Given the description of an element on the screen output the (x, y) to click on. 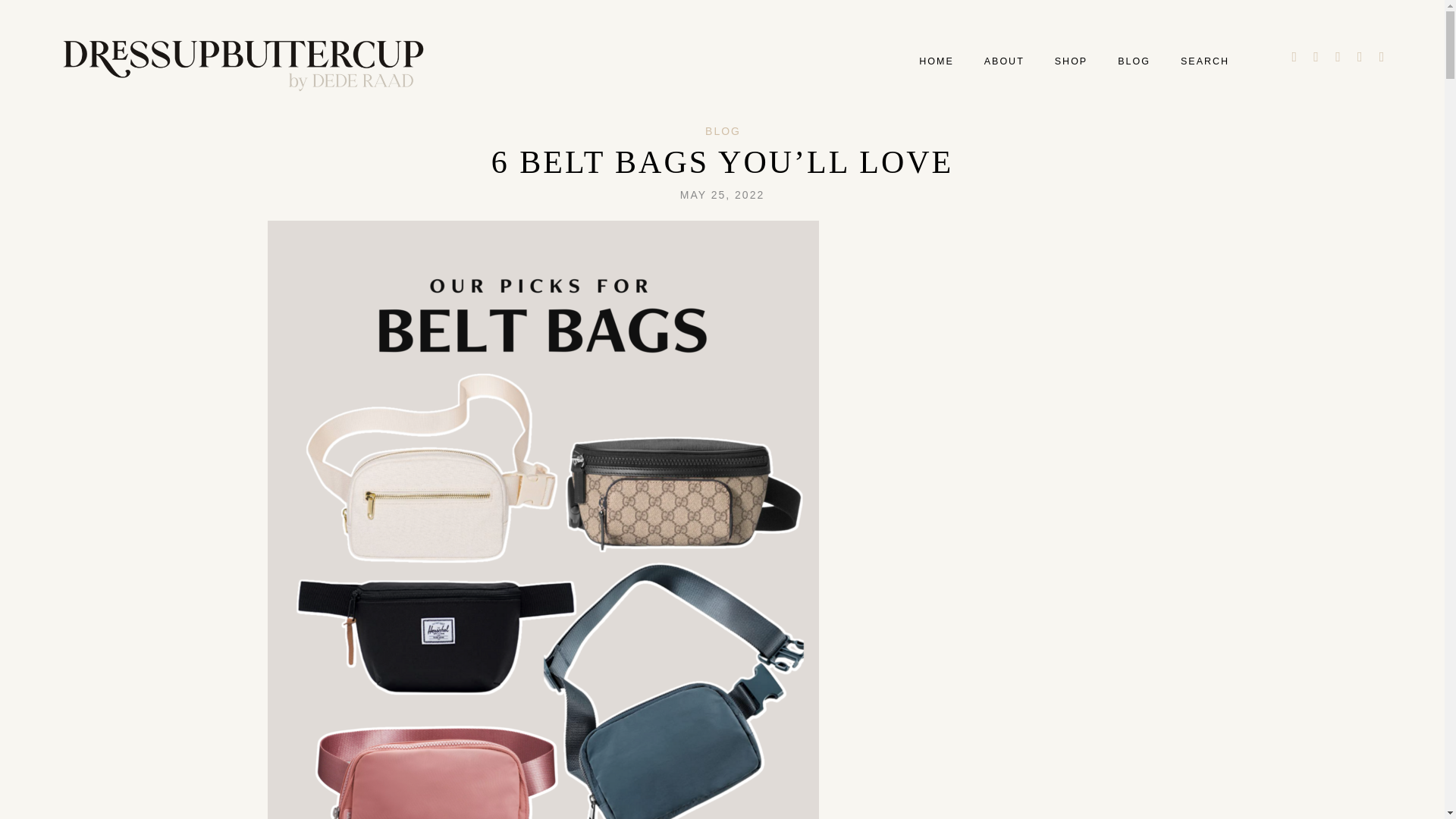
BLOG (1134, 61)
SEARCH (1204, 61)
HOME (935, 61)
MAY 25, 2022 (721, 194)
ABOUT (1004, 61)
BLOG (722, 131)
SHOP (1070, 61)
